Given the description of an element on the screen output the (x, y) to click on. 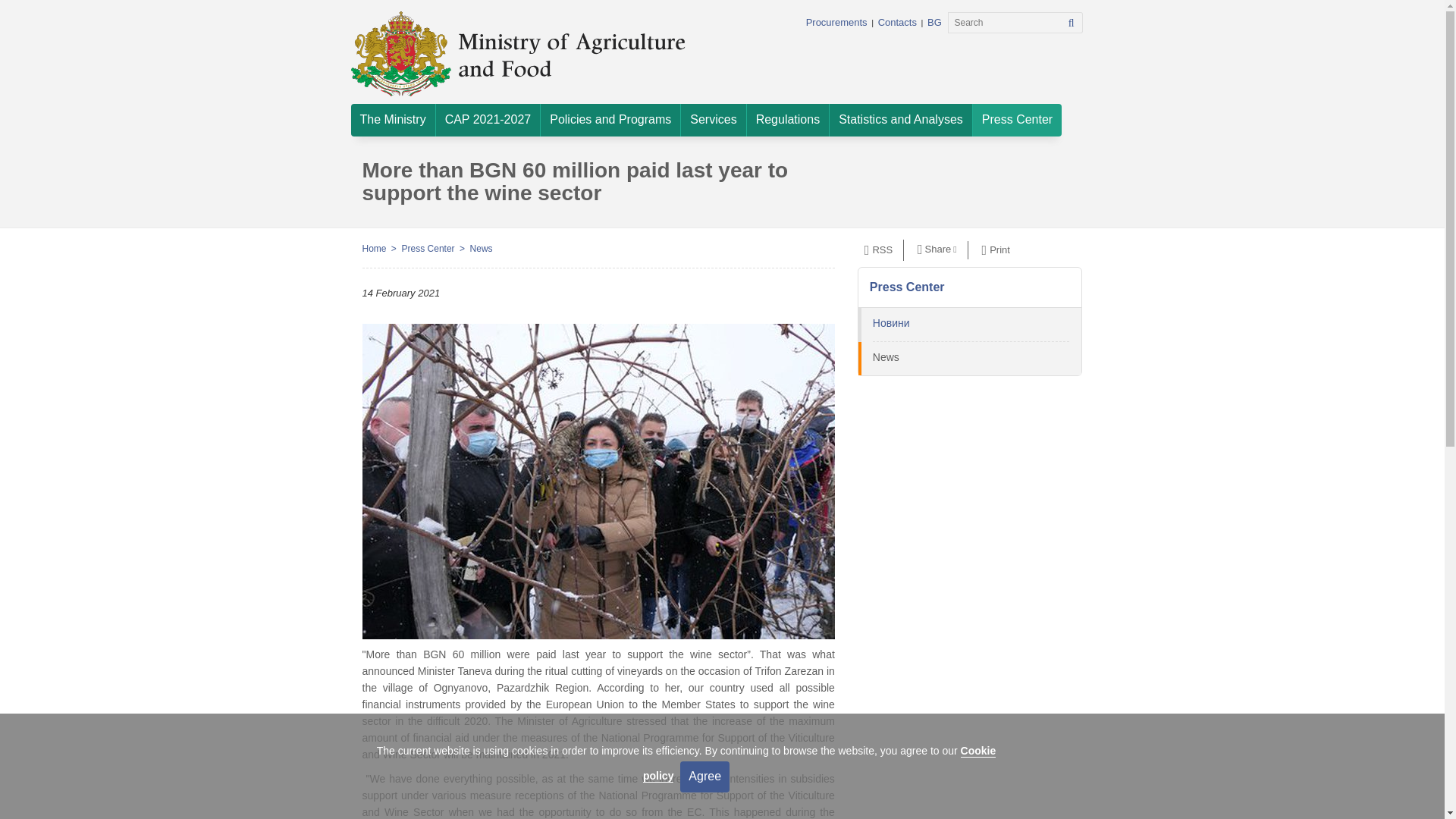
Procurements (836, 21)
Regulations (787, 120)
BG (934, 21)
Statistics and Analyses (900, 120)
Policies and Programs (609, 120)
CAP 2021-2027 (487, 120)
Press Center (1016, 120)
Services (713, 120)
Contacts (897, 21)
Change to language: bg (934, 21)
The Ministry (391, 120)
